Given the description of an element on the screen output the (x, y) to click on. 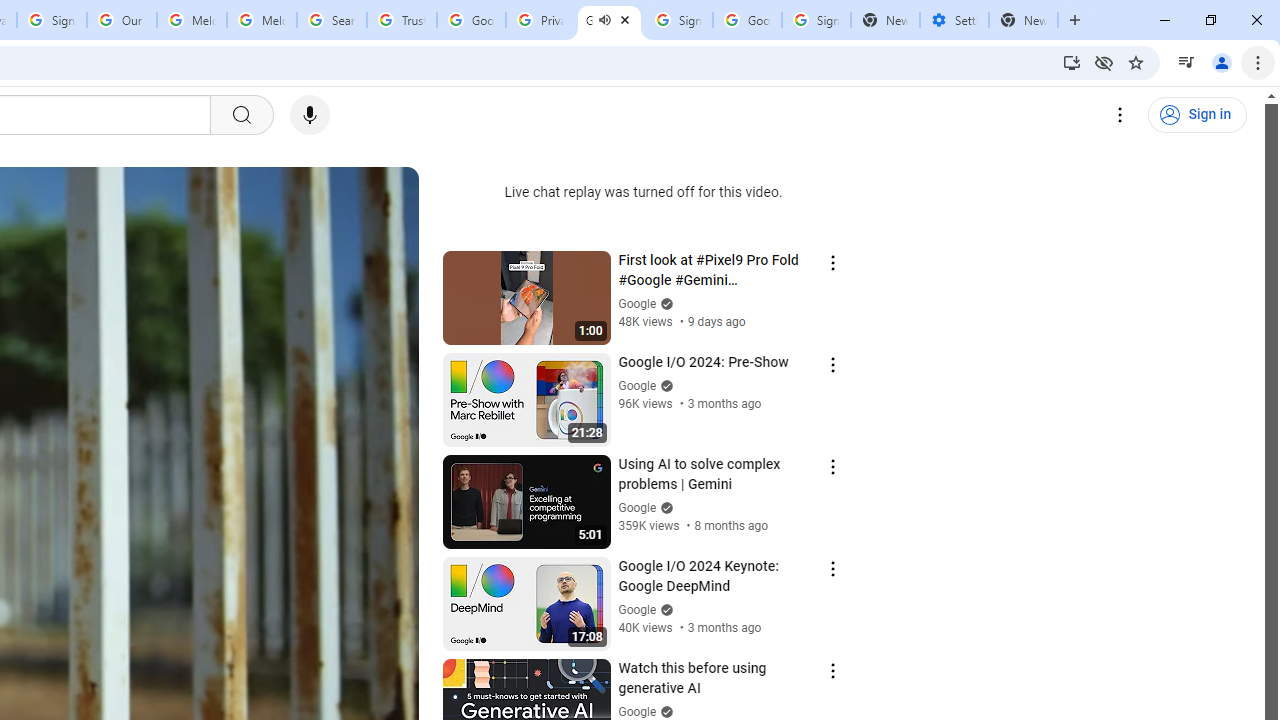
Verified (664, 711)
Google Ads - Sign in (470, 20)
New Tab (1023, 20)
Action menu (832, 670)
